Given the description of an element on the screen output the (x, y) to click on. 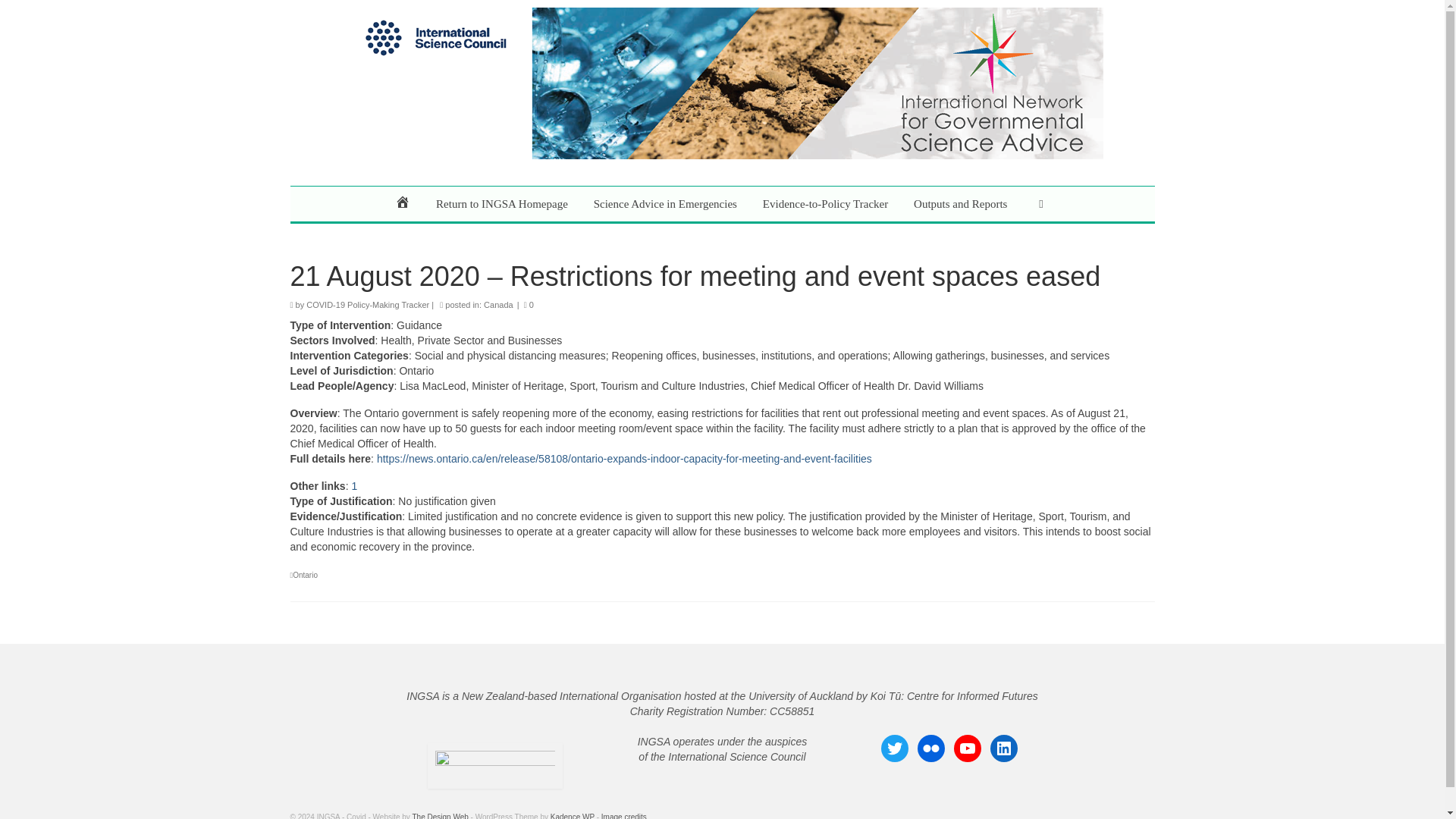
0 (529, 304)
Image credits (623, 816)
Flickr (930, 748)
COVID-19 Policy-Making Tracker (367, 304)
Canada (498, 304)
YouTube (967, 748)
Return to INGSA Homepage (502, 203)
Twitter (894, 748)
Science Advice in Emergencies (665, 203)
LinkedIn (1003, 748)
